Given the description of an element on the screen output the (x, y) to click on. 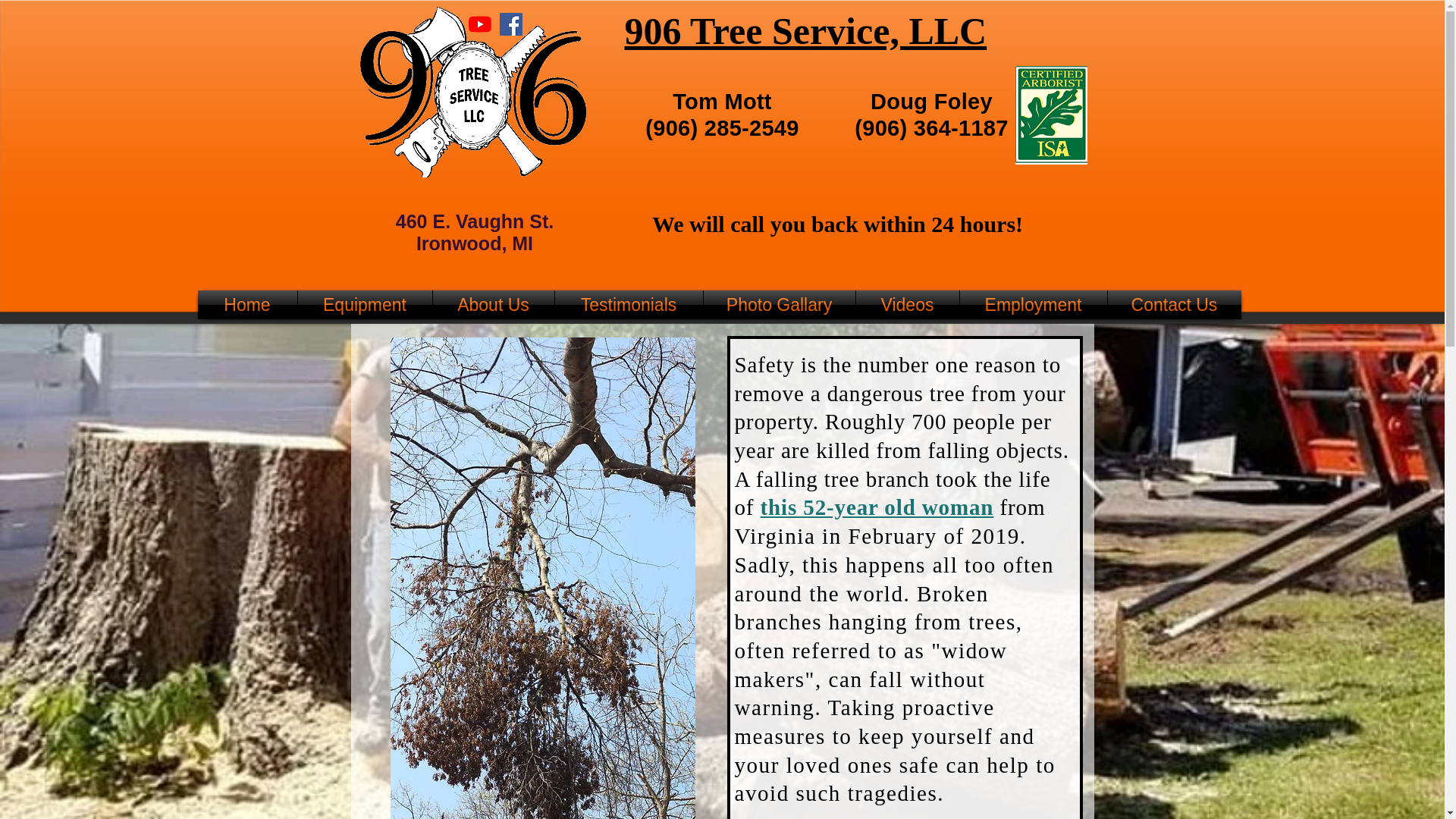
Home (246, 304)
Equipment (363, 304)
Contact Us (1173, 304)
Testimonials (628, 304)
Videos (907, 304)
this 52-year old woman (877, 507)
Photo Gallary (779, 304)
Employment (1032, 304)
About Us (492, 304)
